Given the description of an element on the screen output the (x, y) to click on. 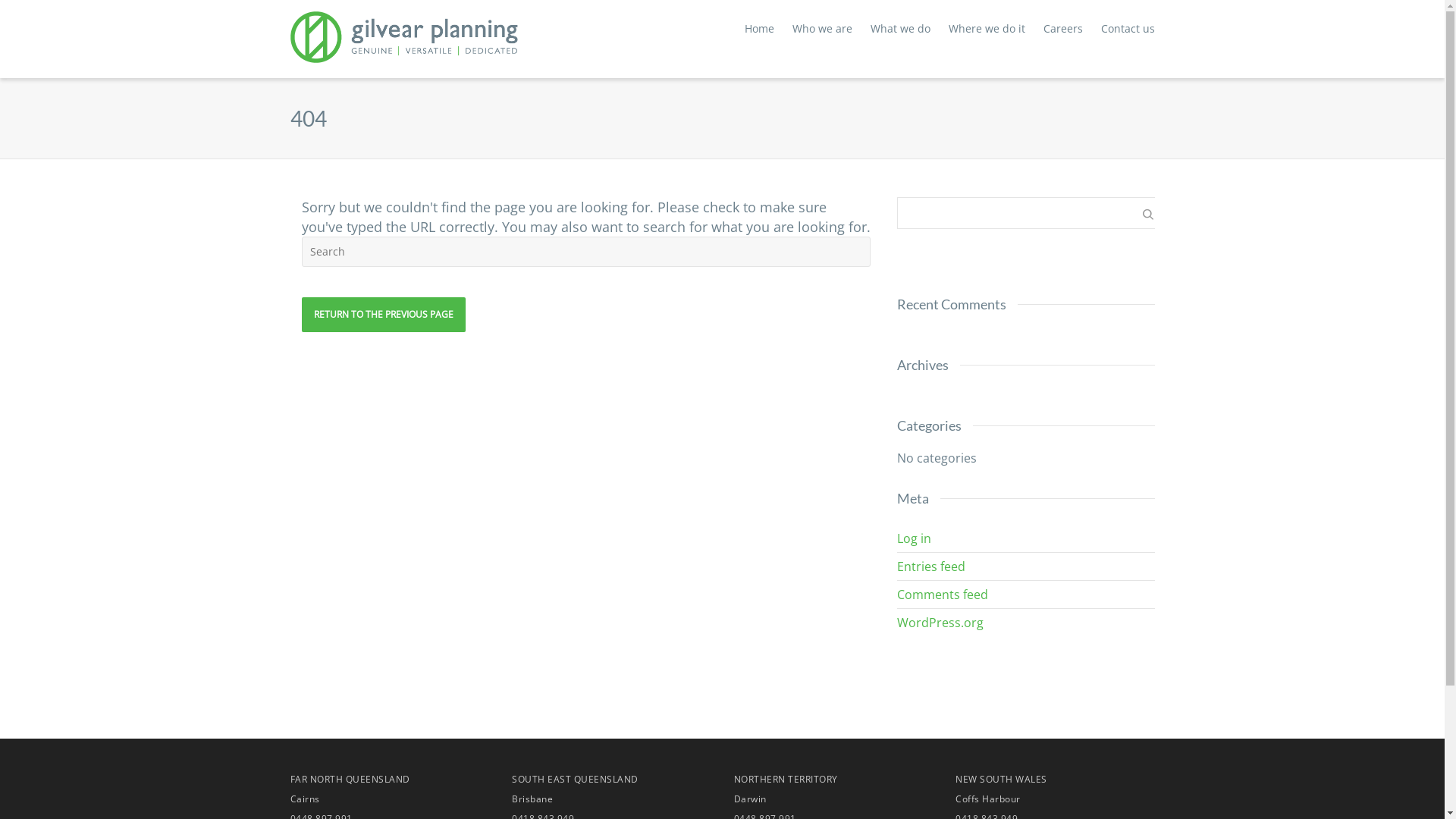
WordPress.org Element type: text (1030, 622)
Who we are Element type: text (821, 29)
Search Element type: text (1030, 249)
Contact us Element type: text (1127, 29)
Comments feed Element type: text (1030, 594)
Log in Element type: text (1030, 538)
Careers Element type: text (1062, 29)
Where we do it Element type: text (985, 29)
Home Element type: text (759, 29)
Entries feed Element type: text (1030, 566)
RETURN TO THE PREVIOUS PAGE Element type: text (383, 314)
What we do Element type: text (900, 29)
